Given the description of an element on the screen output the (x, y) to click on. 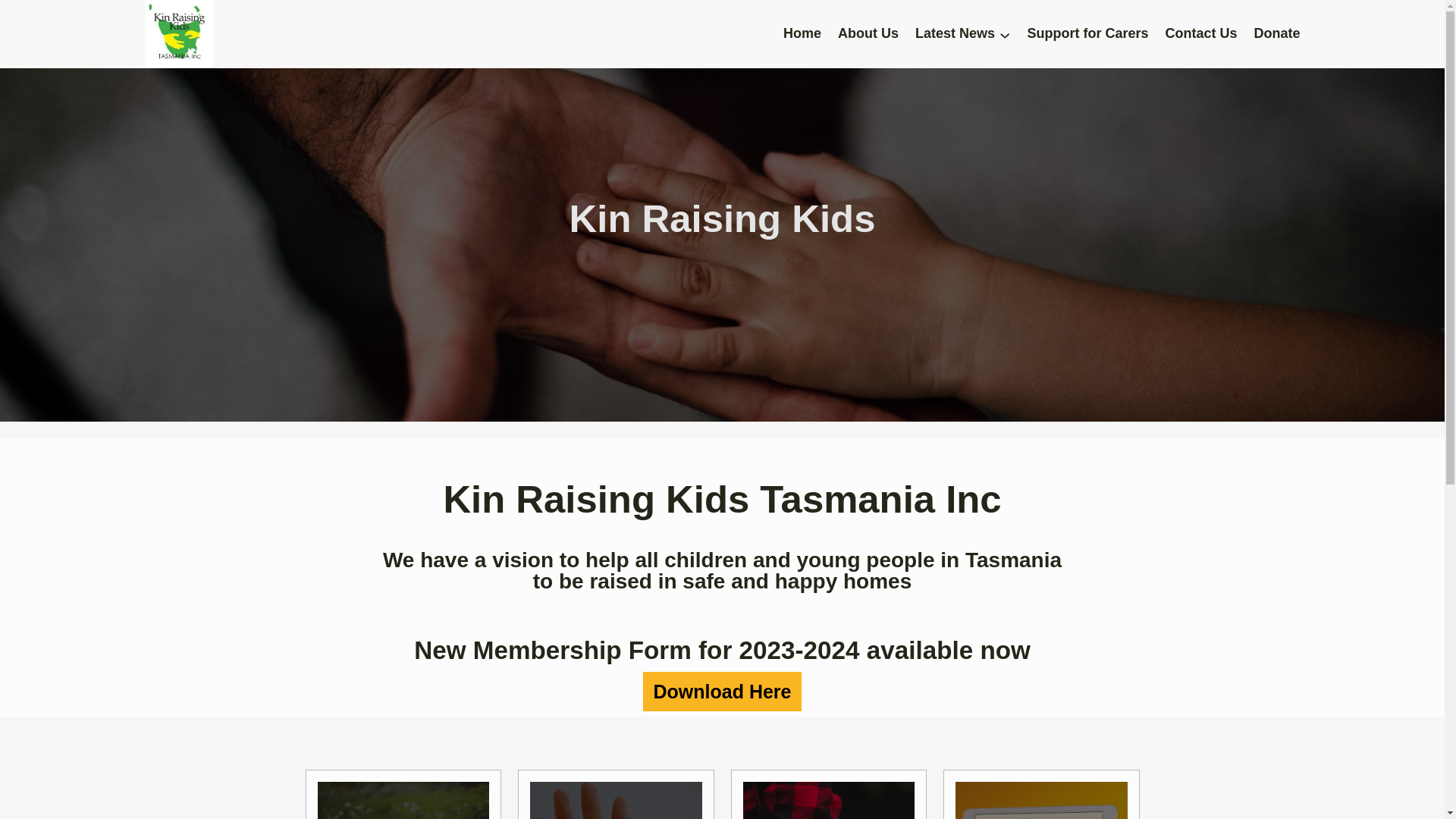
Download Here Element type: text (722, 691)
Latest News Element type: text (954, 33)
Support for Carers Element type: text (1087, 33)
Contact Us Element type: text (1200, 33)
About Us Element type: text (867, 33)
Home Element type: text (802, 33)
Donate Element type: text (1276, 33)
